Given the description of an element on the screen output the (x, y) to click on. 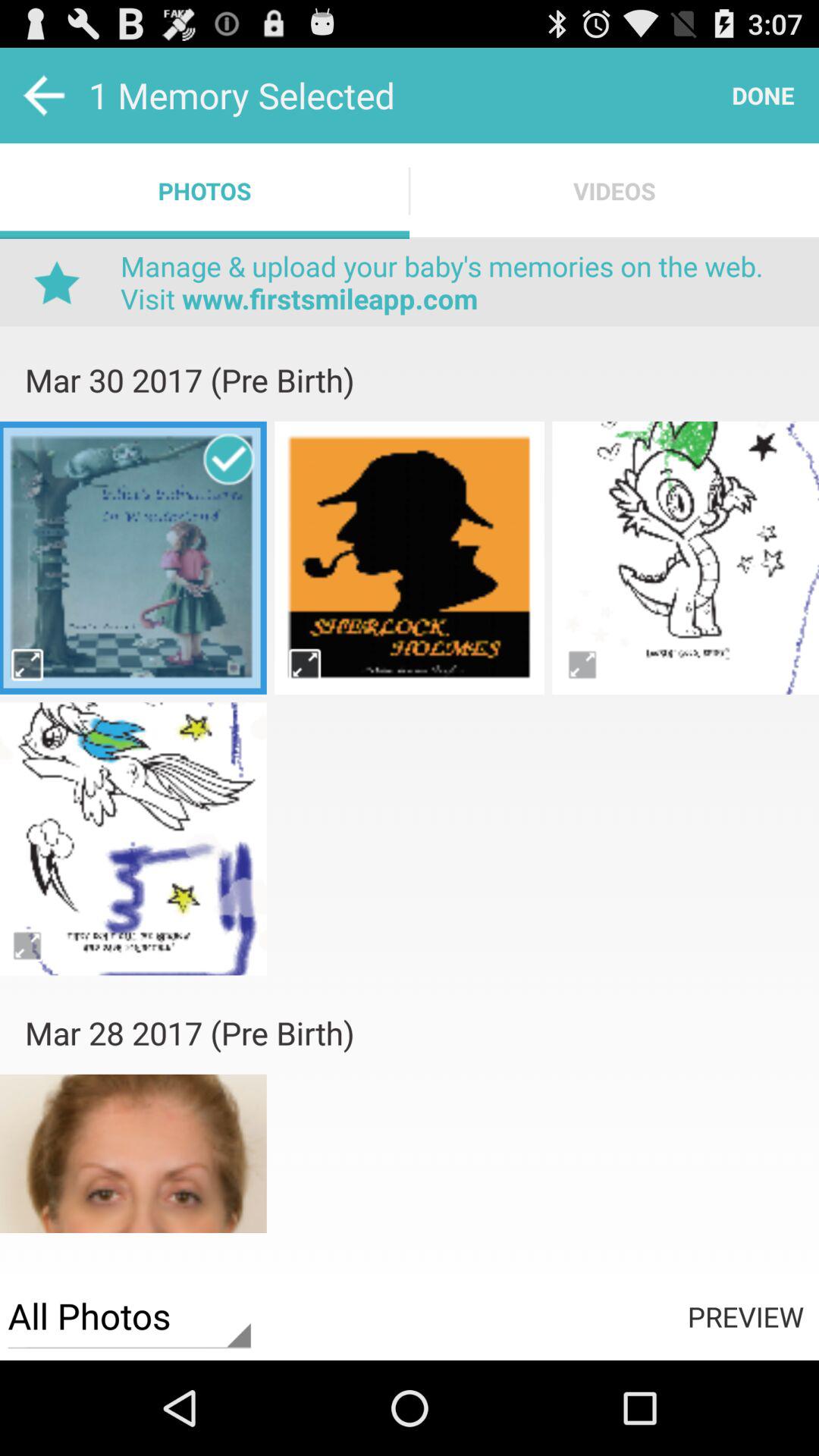
full size of the image (28, 664)
